Given the description of an element on the screen output the (x, y) to click on. 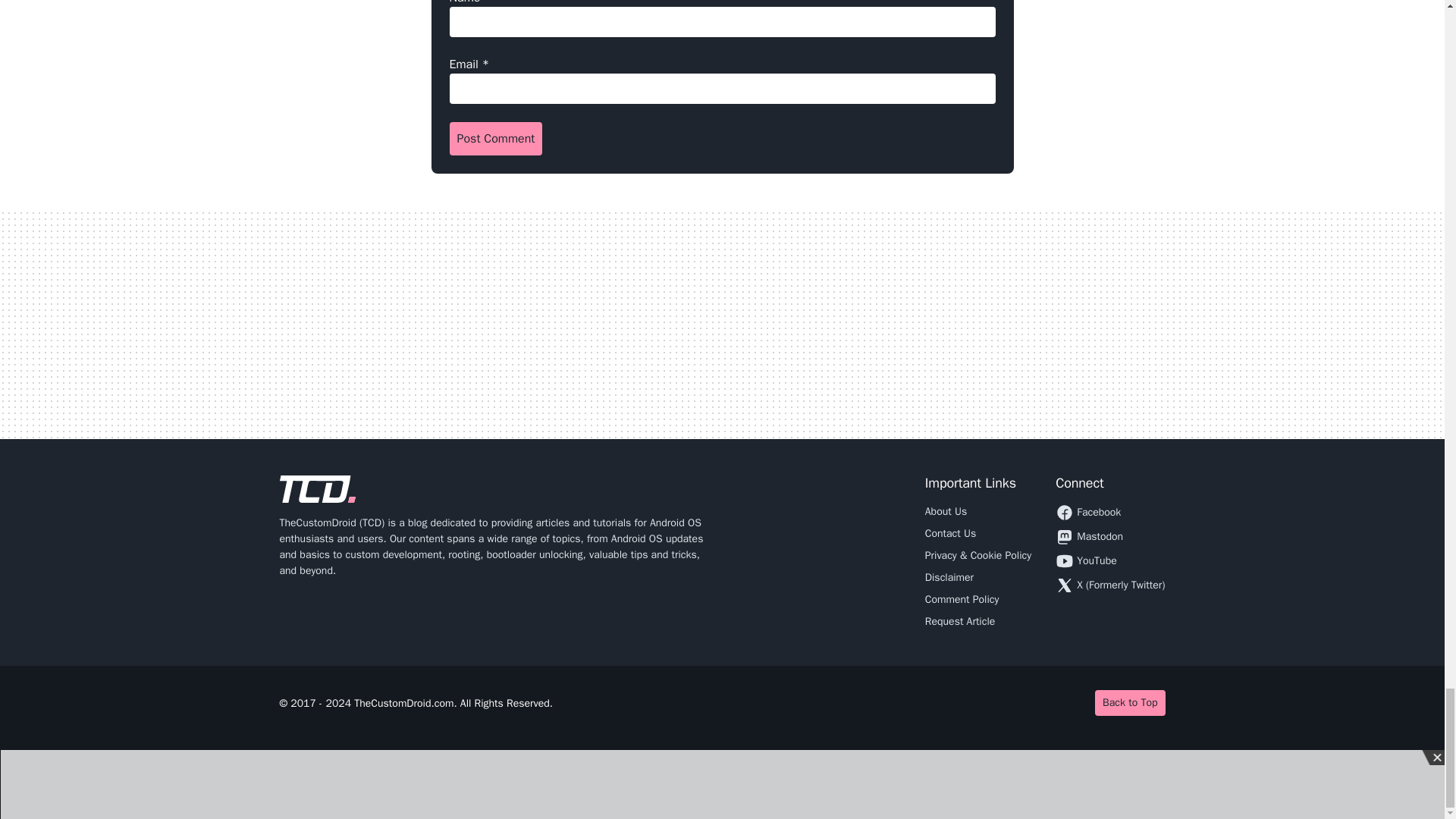
The Custom Droid logo (317, 488)
About Us (945, 511)
The Custom Droid logo (317, 488)
Contact Us (949, 533)
Disclaimer (949, 577)
Post Comment (494, 138)
Post Comment (494, 138)
